Given the description of an element on the screen output the (x, y) to click on. 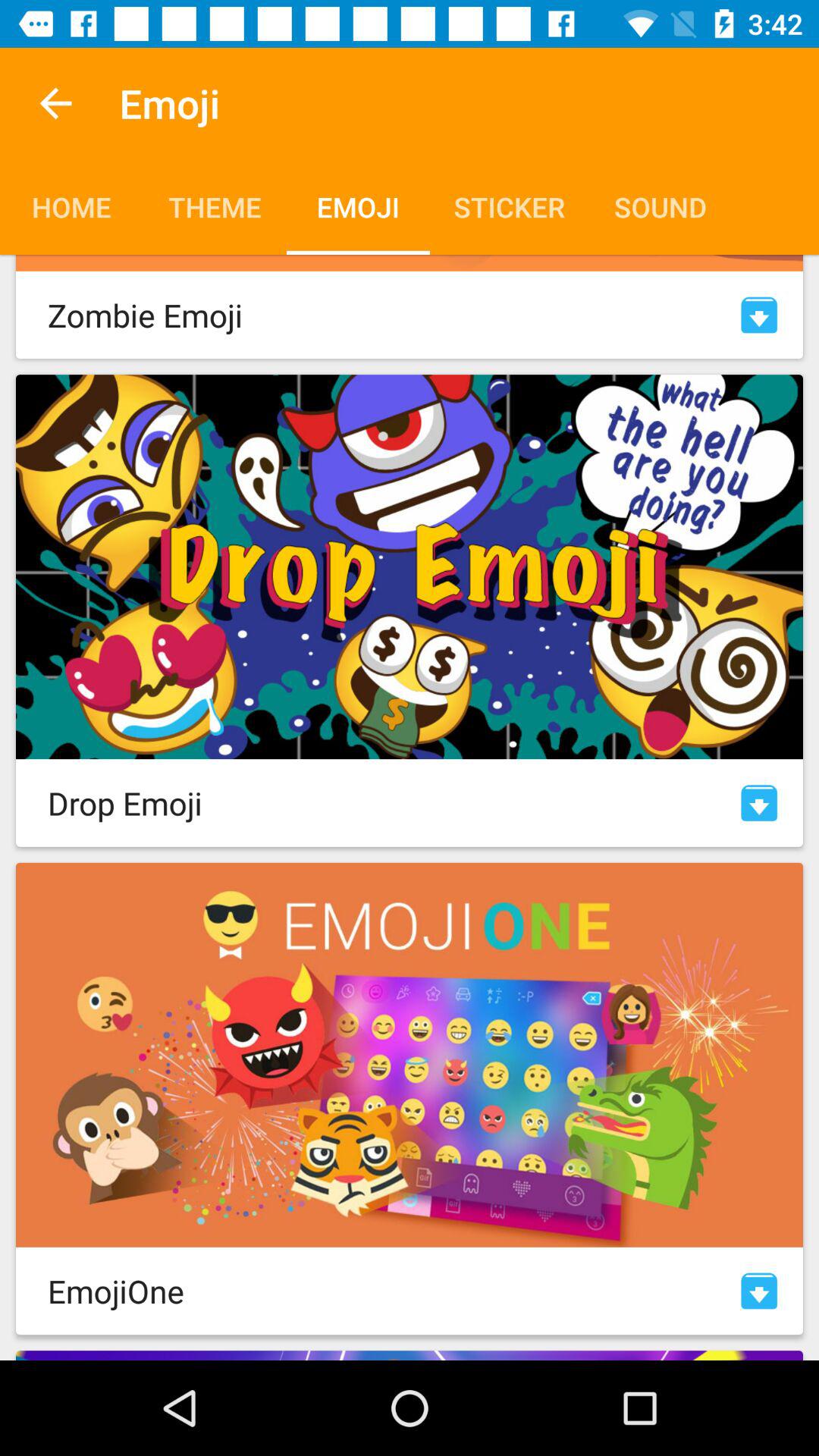
download the page (759, 802)
